Given the description of an element on the screen output the (x, y) to click on. 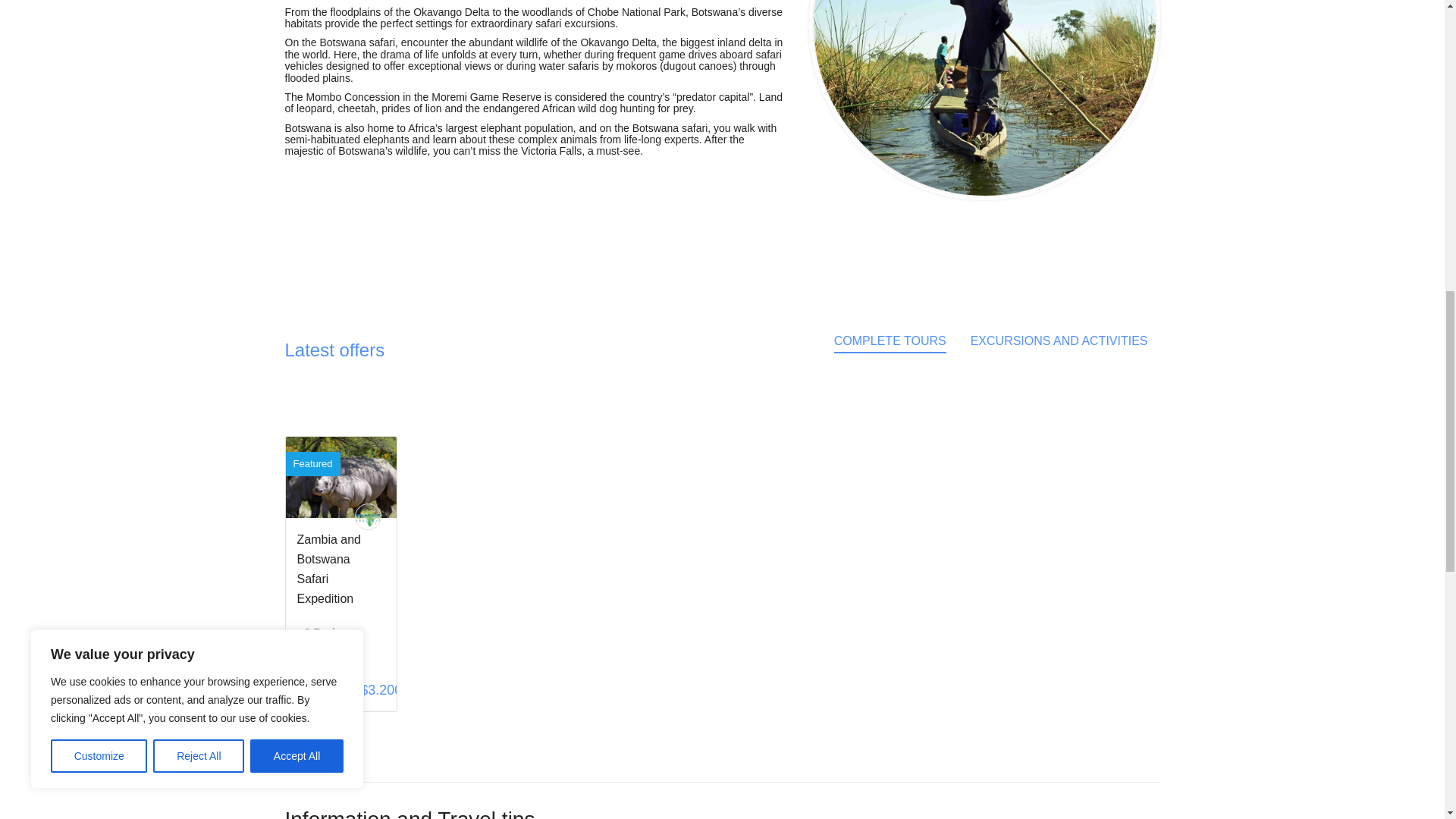
Heart of Africa S.r.l. (368, 516)
Add to wishlist (369, 461)
